Given the description of an element on the screen output the (x, y) to click on. 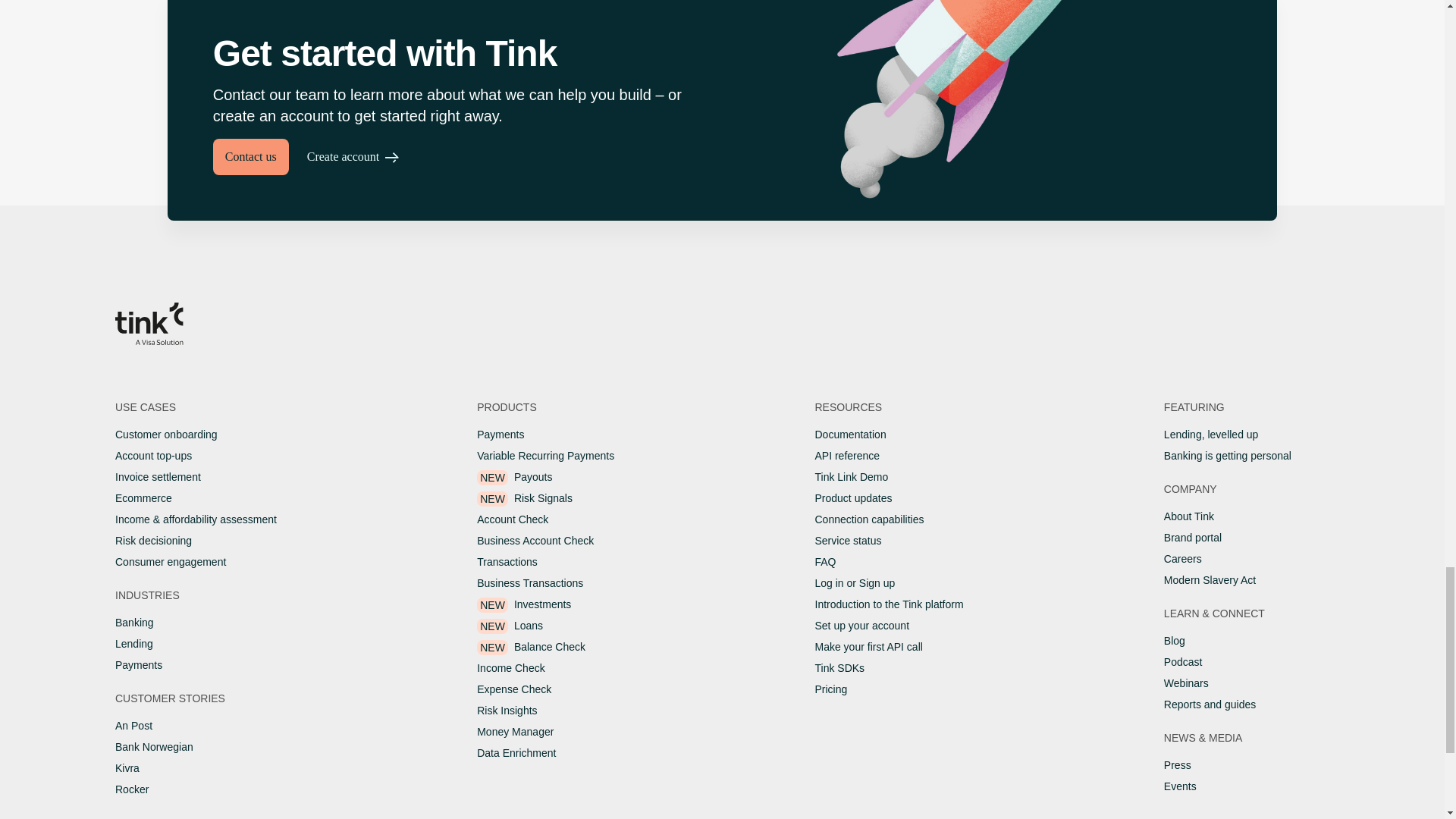
Contact us (250, 156)
